Given the description of an element on the screen output the (x, y) to click on. 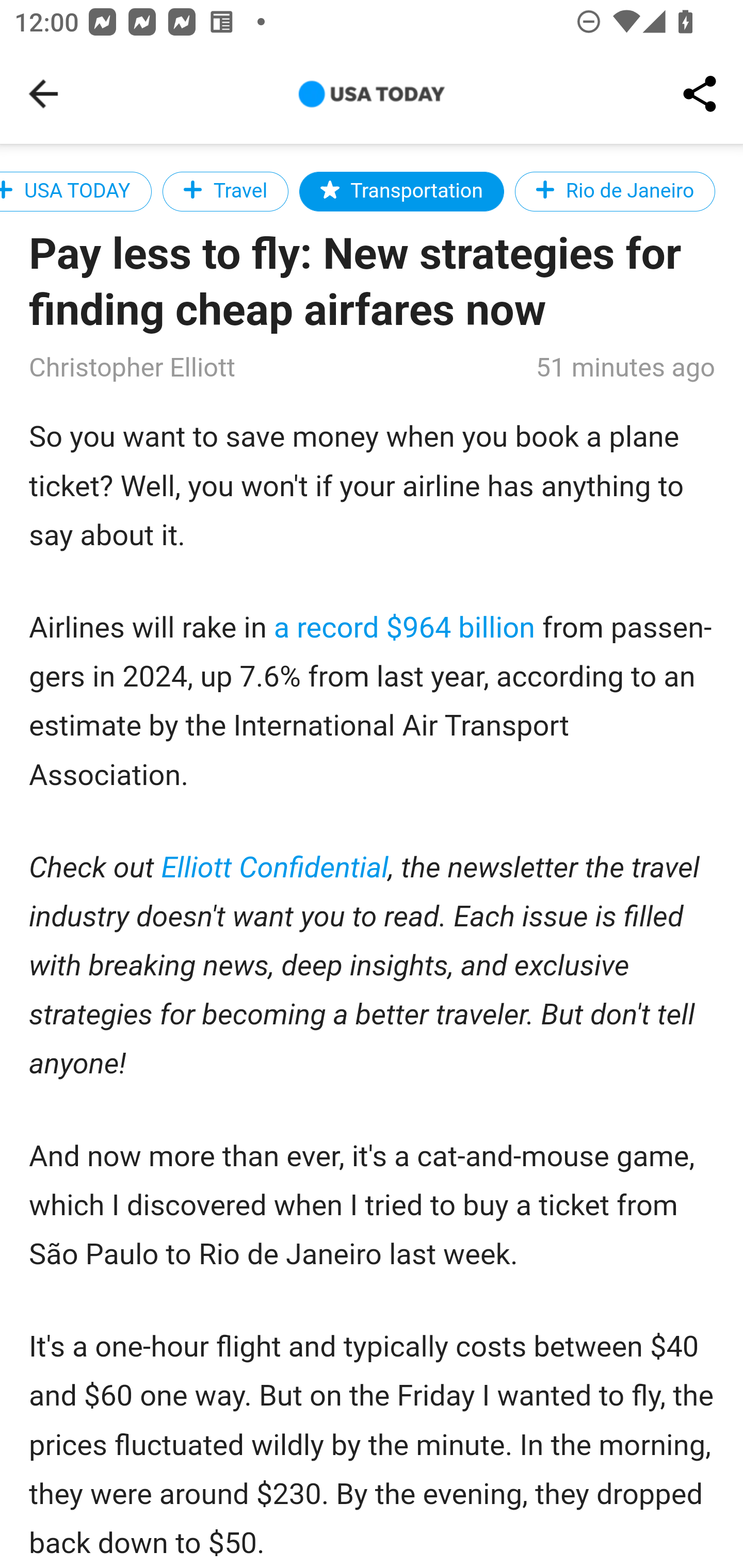
USA TODAY (75, 191)
Travel (224, 191)
Transportation (401, 191)
Rio de Janeiro (614, 191)
a record $964 billion (404, 627)
Elliott Confidential (275, 868)
